Given the description of an element on the screen output the (x, y) to click on. 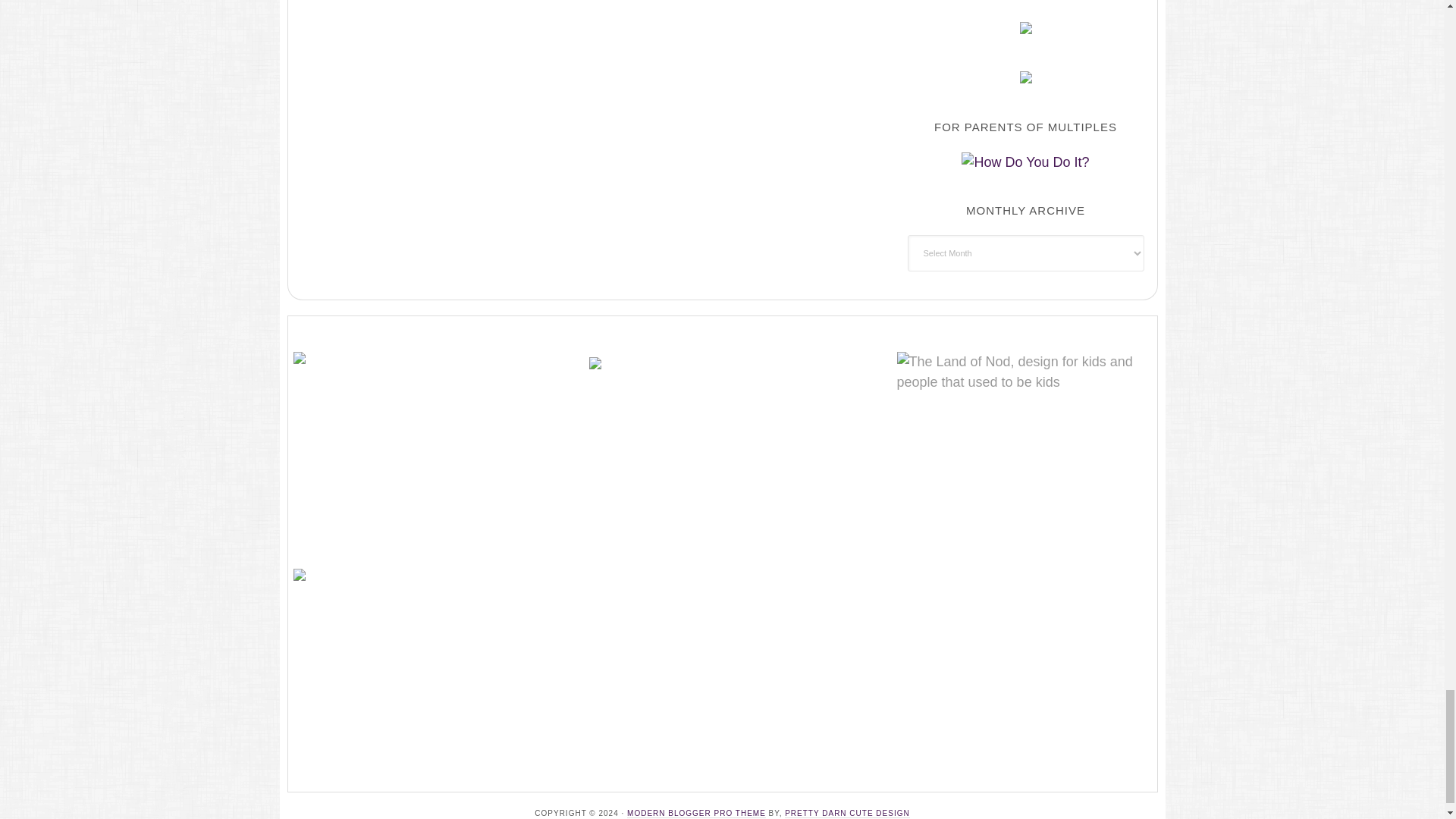
hdydibadge (1024, 161)
